Given the description of an element on the screen output the (x, y) to click on. 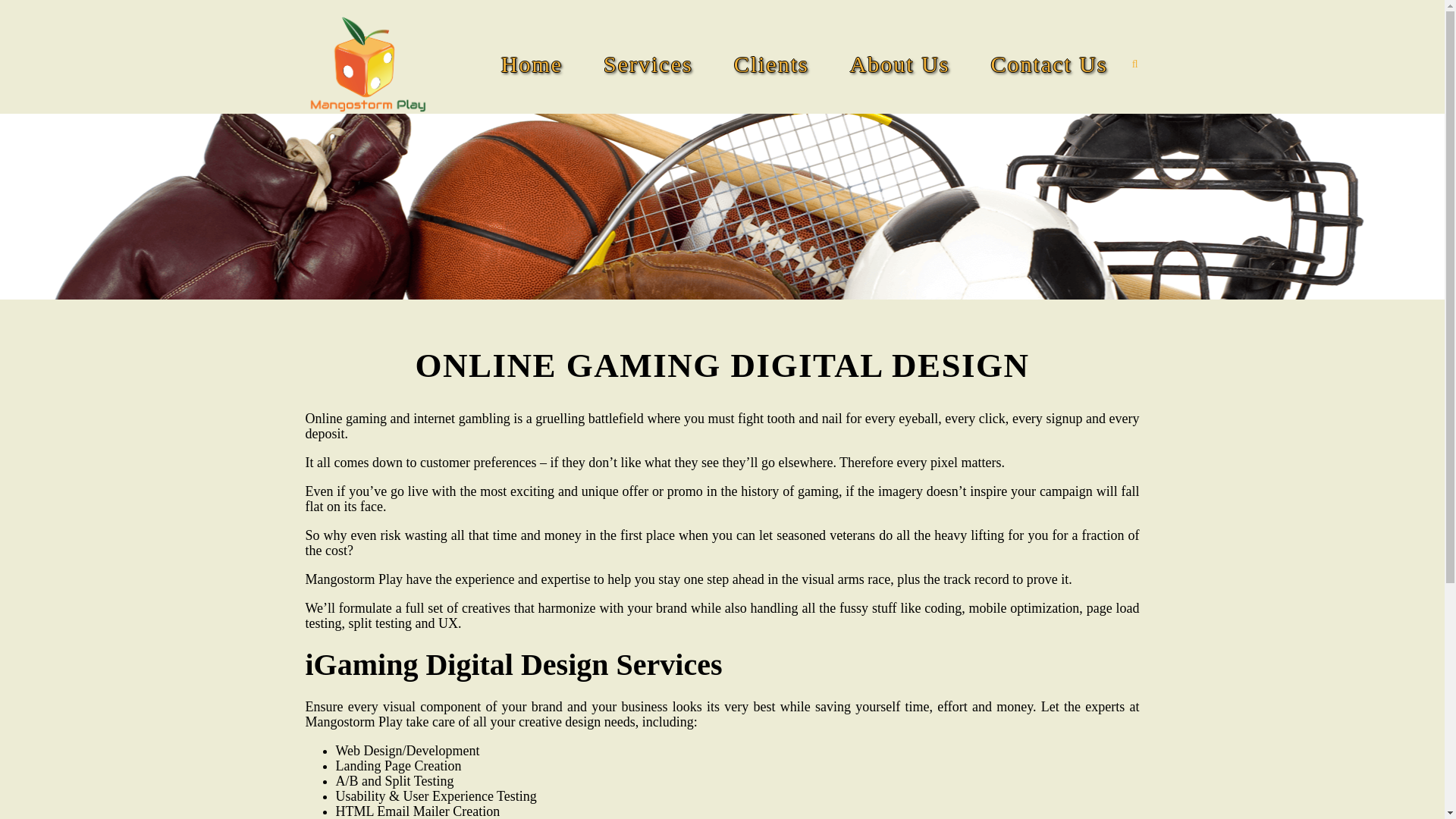
Home (532, 64)
Services (999, 112)
Services (647, 64)
Contact Us (1048, 64)
Clients (771, 64)
About Us (900, 64)
Home (951, 112)
